Given the description of an element on the screen output the (x, y) to click on. 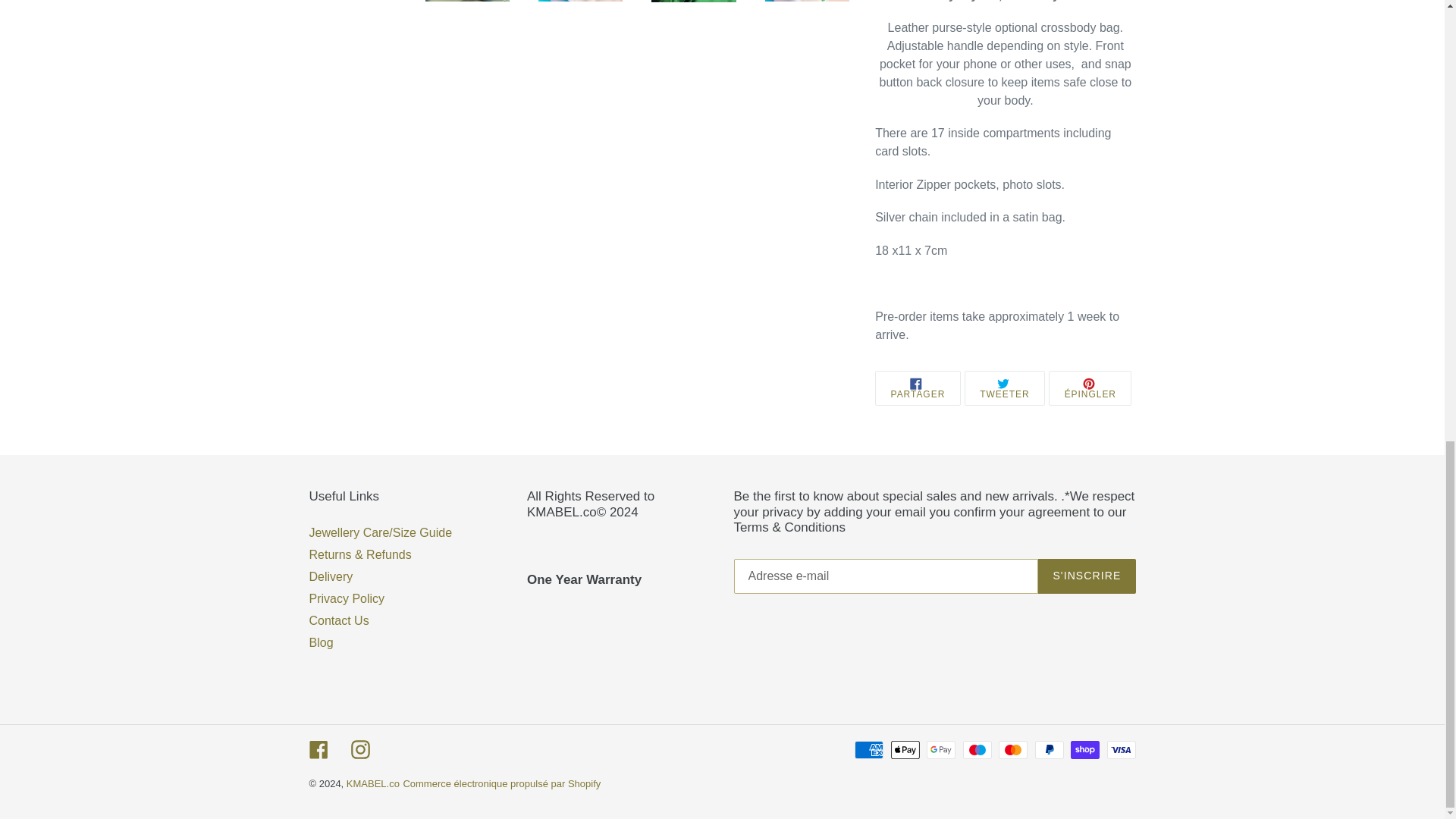
Contact Us (338, 620)
Delivery (330, 576)
Privacy Policy (346, 598)
